Given the description of an element on the screen output the (x, y) to click on. 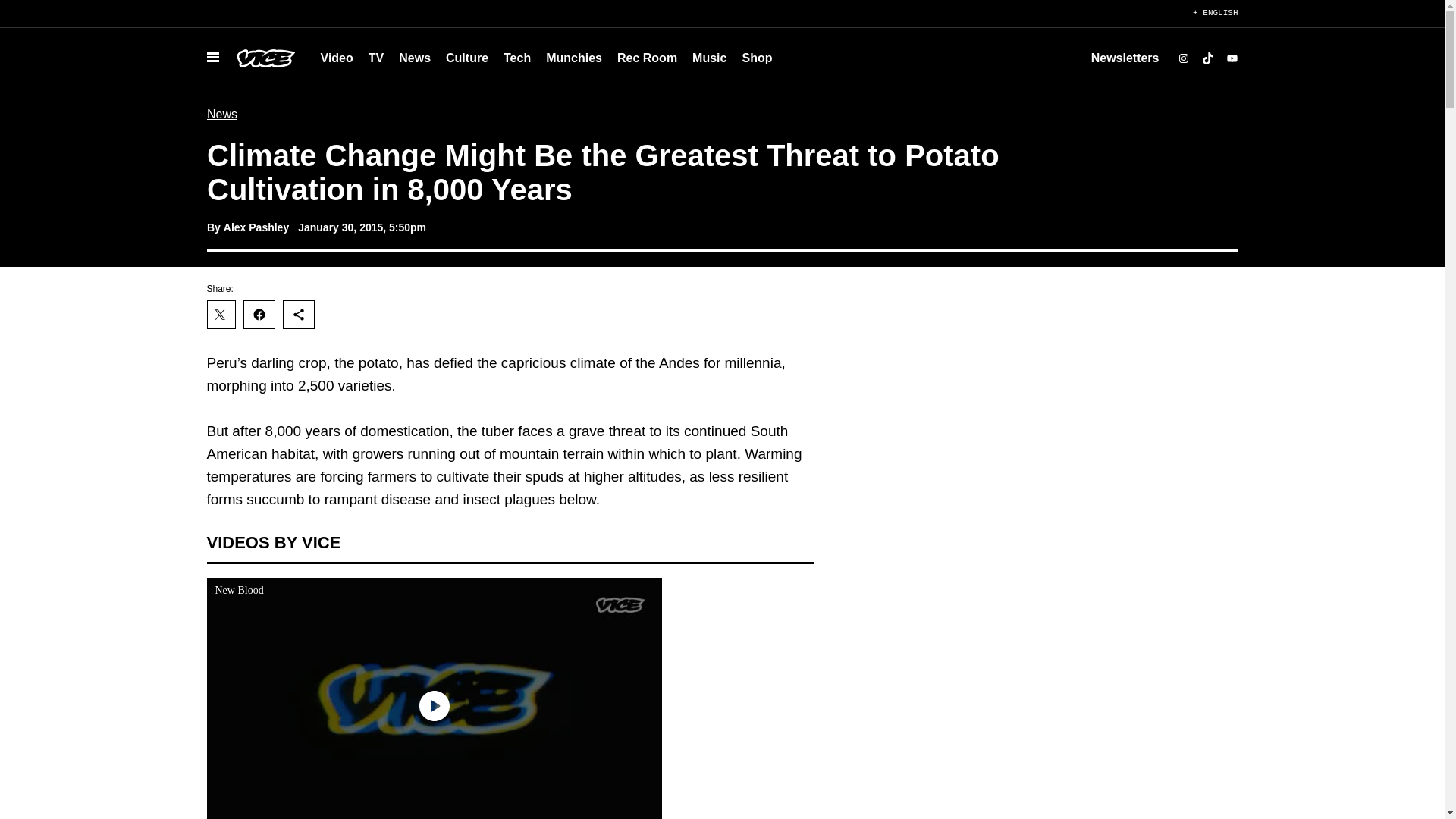
Music (708, 58)
TikTok (1206, 58)
Posts by Alex Pashley (255, 227)
YouTube (1231, 58)
Instagram (1182, 58)
Video (336, 58)
News (414, 58)
Shop (755, 58)
Culture (467, 58)
